Given the description of an element on the screen output the (x, y) to click on. 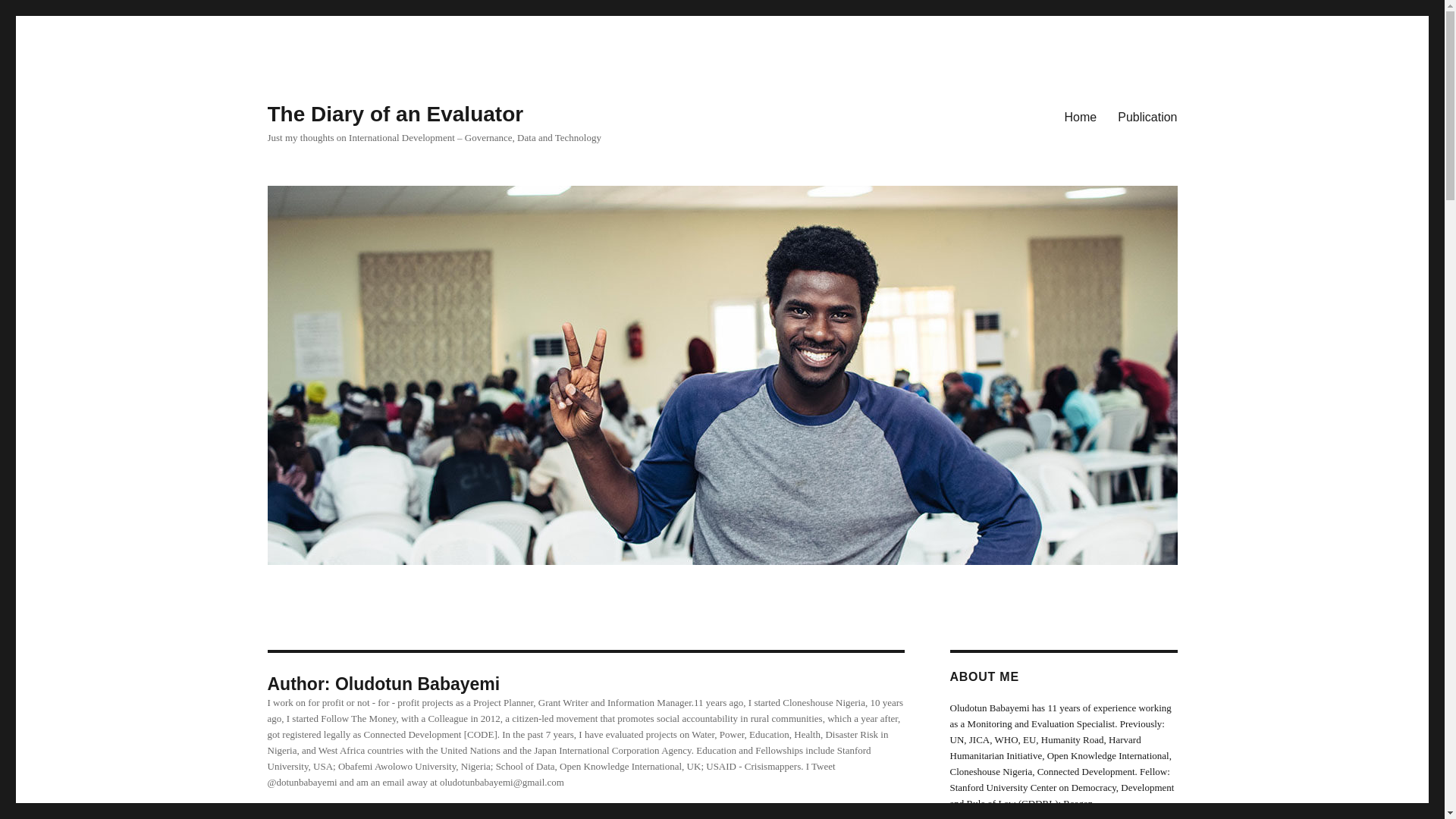
Publication (1147, 116)
Home (1081, 116)
The Diary of an Evaluator (394, 114)
